Given the description of an element on the screen output the (x, y) to click on. 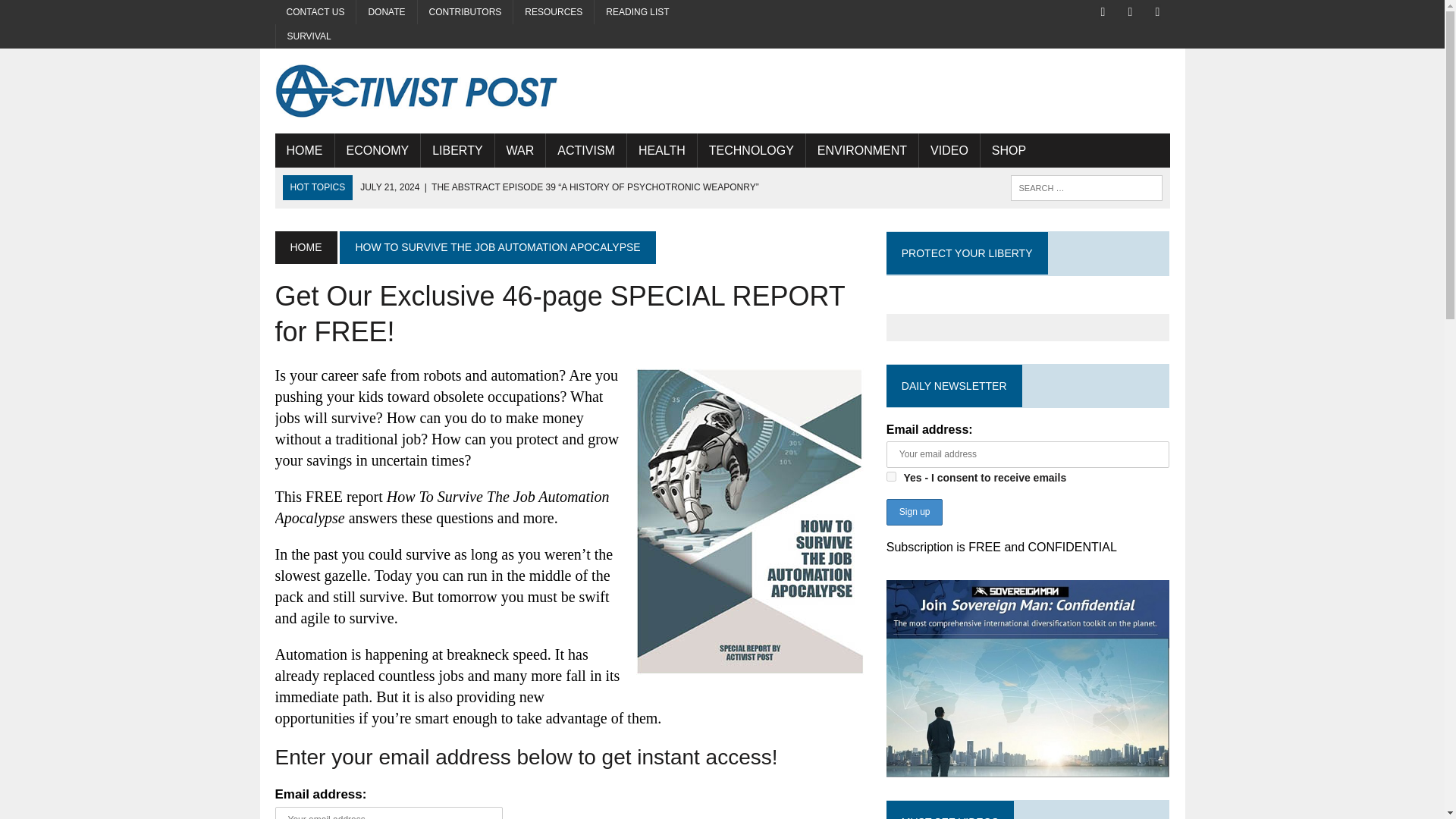
1 (891, 476)
HOME (305, 246)
CONTRIBUTORS (465, 12)
SHOP (1007, 150)
WAR (520, 150)
ECONOMY (377, 150)
TECHNOLOGY (751, 150)
Sign up (914, 511)
READING LIST (636, 12)
HOME (304, 150)
SURVIVAL (309, 36)
LIBERTY (456, 150)
ENVIRONMENT (862, 150)
VIDEO (948, 150)
Activist Post (416, 90)
